Given the description of an element on the screen output the (x, y) to click on. 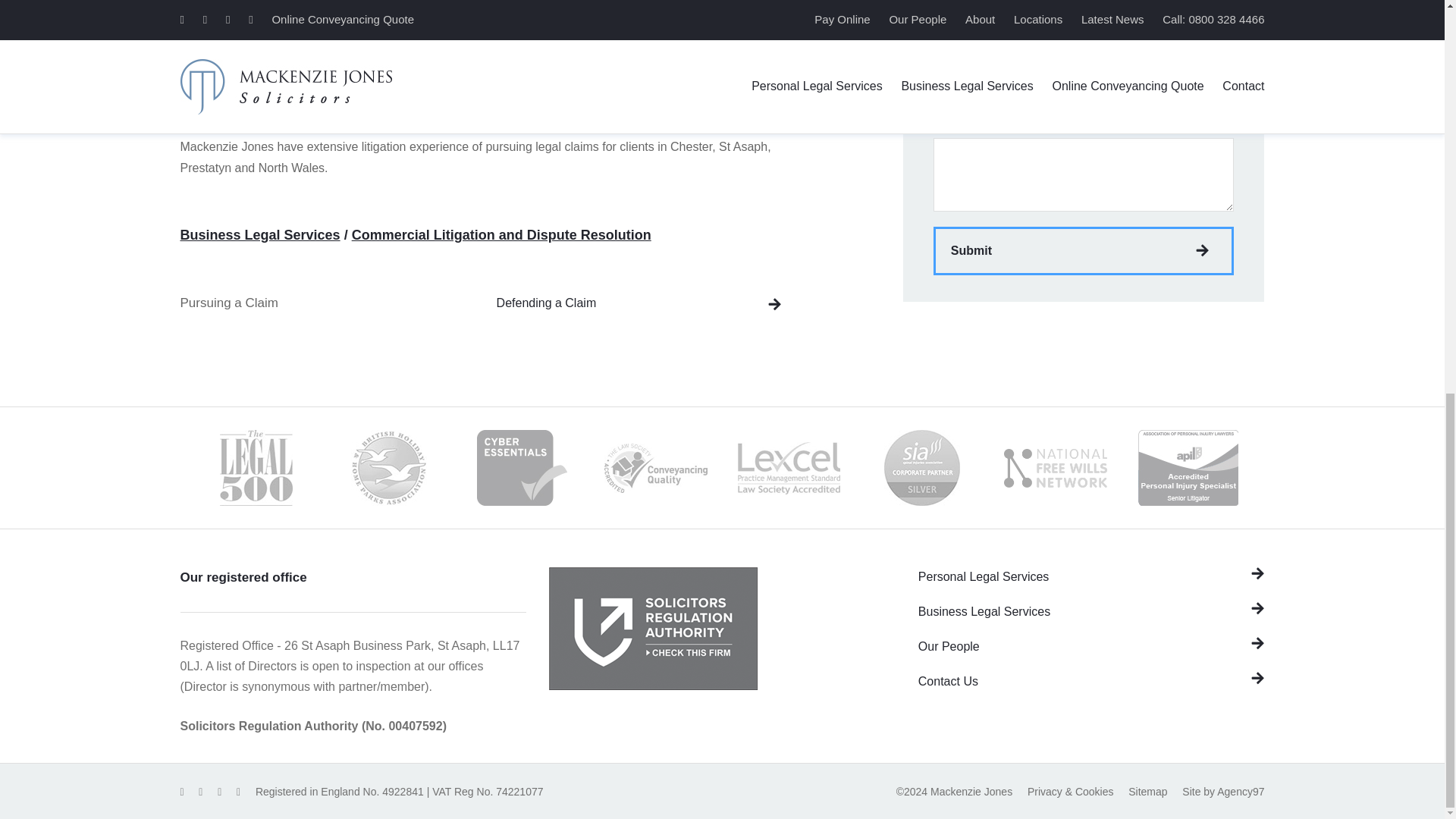
Submit (1083, 250)
